Given the description of an element on the screen output the (x, y) to click on. 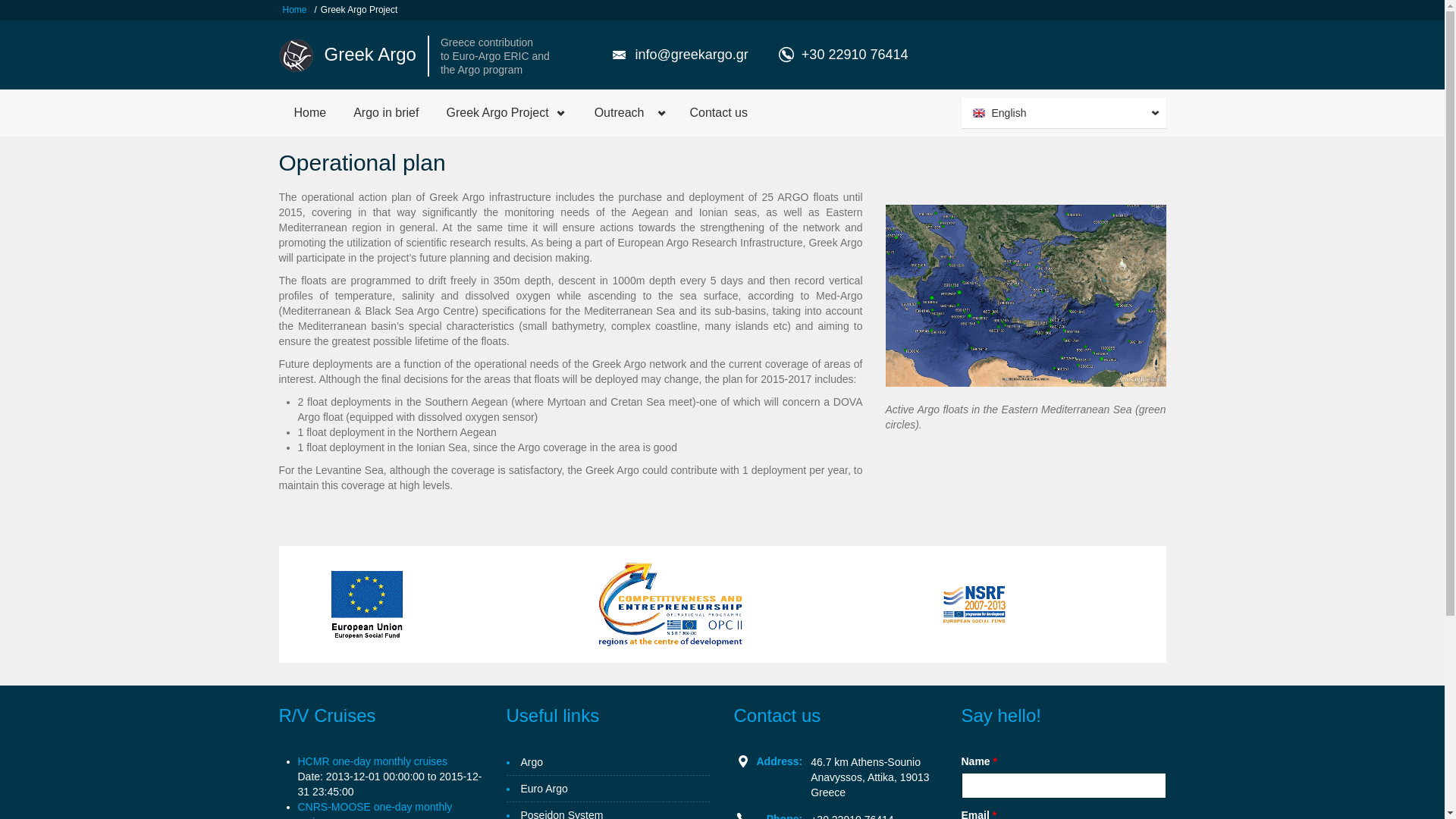
Greek Argo (370, 54)
English (1065, 112)
Argo in brief (383, 112)
Home (296, 54)
Euro Argo (543, 788)
Home (370, 54)
Poseidon System (560, 812)
HCMR one-day monthly cruises (371, 761)
CNRS-MOOSE one-day monthly cruises (374, 809)
Operational plan (1065, 112)
Home (309, 112)
Argo (531, 762)
Home (295, 9)
Contact us (716, 112)
